Given the description of an element on the screen output the (x, y) to click on. 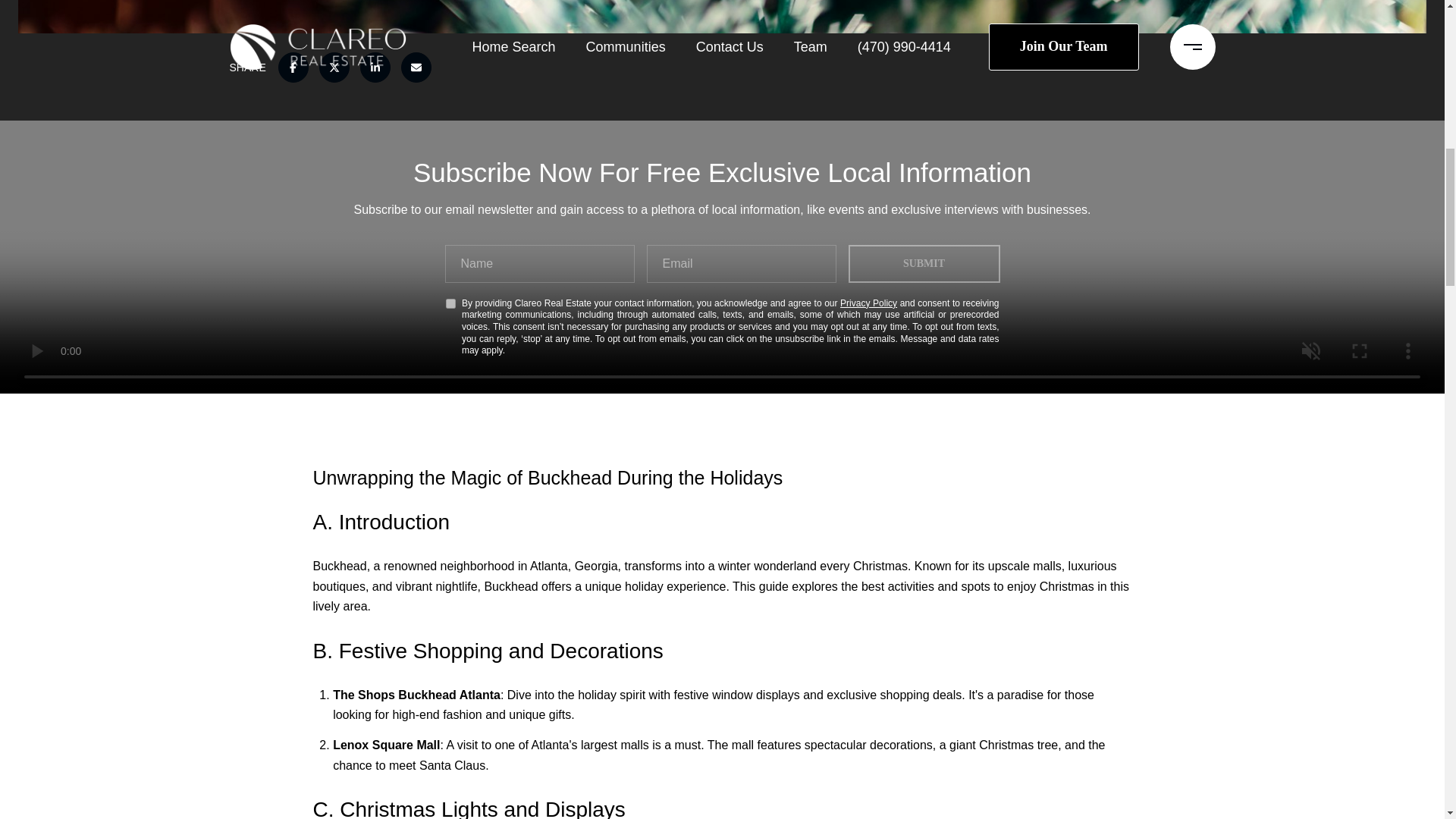
on (450, 303)
